Given the description of an element on the screen output the (x, y) to click on. 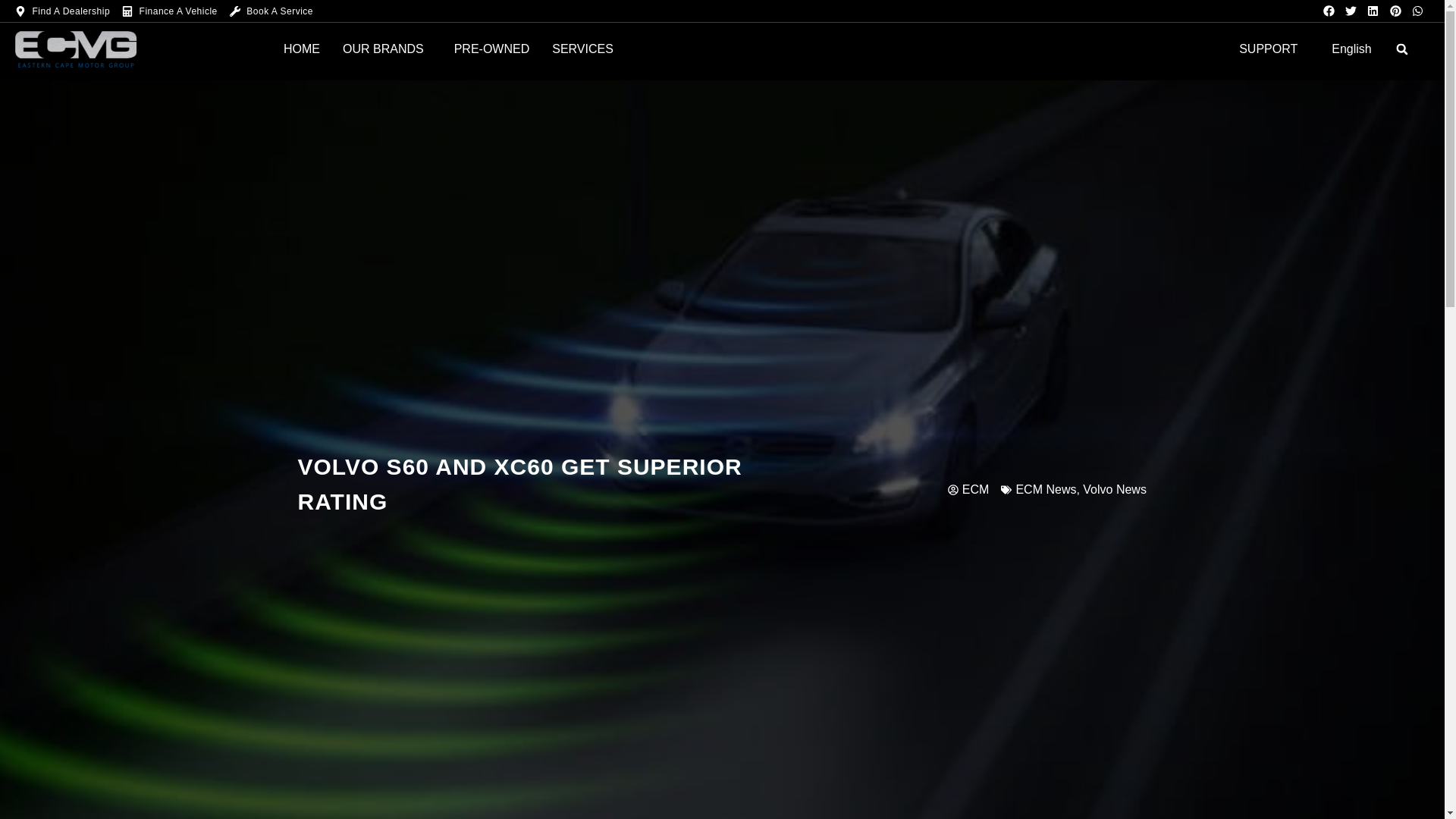
Finance A Vehicle (169, 11)
English (1351, 48)
Find A Dealership (62, 11)
Book A Service (271, 11)
